Given the description of an element on the screen output the (x, y) to click on. 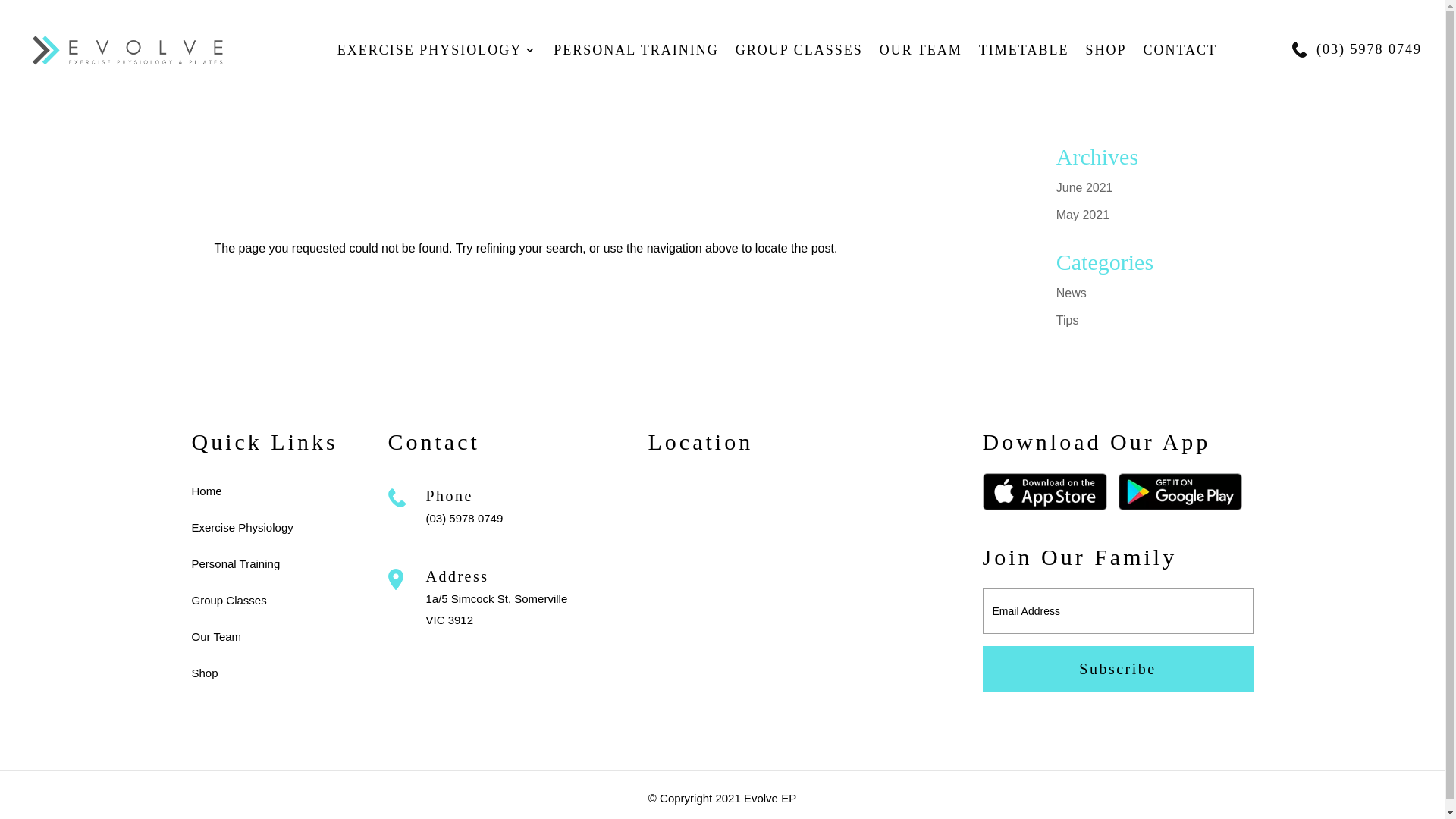
Download on the App Store Element type: text (1044, 505)
SHOP Element type: text (1105, 61)
May 2021 Element type: text (1082, 214)
Skip to content Element type: text (0, 0)
News Element type: text (1071, 292)
Our Team Element type: text (216, 636)
Shop Element type: text (204, 673)
Subscribe Element type: text (1117, 669)
PERSONAL TRAINING Element type: text (635, 61)
June 2021 Element type: text (1084, 187)
OUR TEAM Element type: text (920, 61)
Home Element type: text (206, 491)
Personal Training Element type: text (235, 563)
EXERCISE PHYSIOLOGY Element type: text (437, 61)
Exercise Physiology Element type: text (241, 527)
TIMETABLE Element type: text (1024, 61)
(03) 5978 0749 Element type: text (464, 517)
(03) 5978 0749 Element type: text (1368, 48)
Tips Element type: text (1067, 319)
Group Classes Element type: text (228, 600)
GROUP CLASSES Element type: text (798, 61)
Download on Google Play Element type: text (1180, 505)
CONTACT Element type: text (1179, 61)
